Given the description of an element on the screen output the (x, y) to click on. 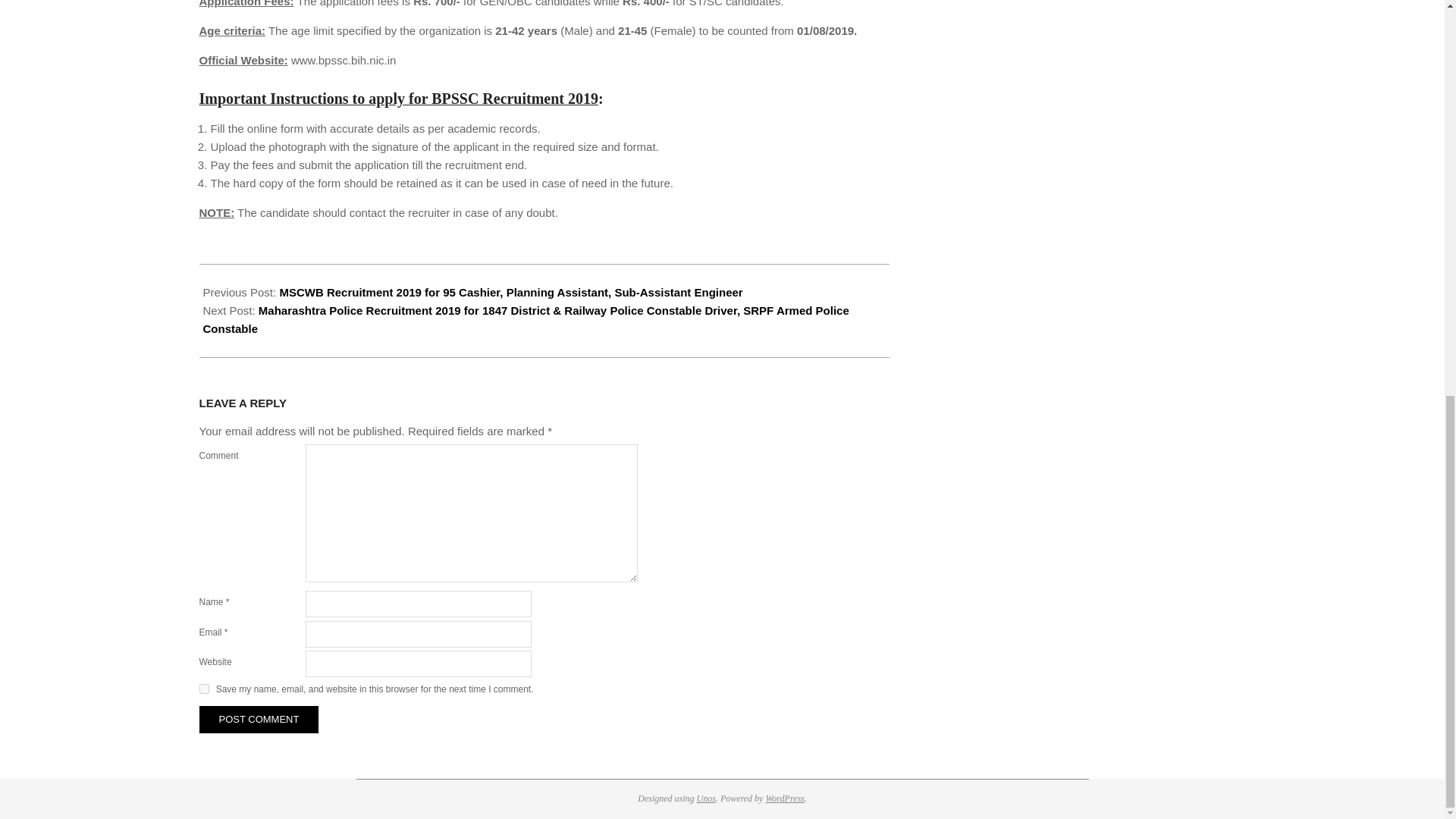
Unos WordPress Theme (706, 798)
yes (203, 688)
Post Comment (258, 719)
Unos (706, 798)
WordPress (784, 798)
Post Comment (258, 719)
